Given the description of an element on the screen output the (x, y) to click on. 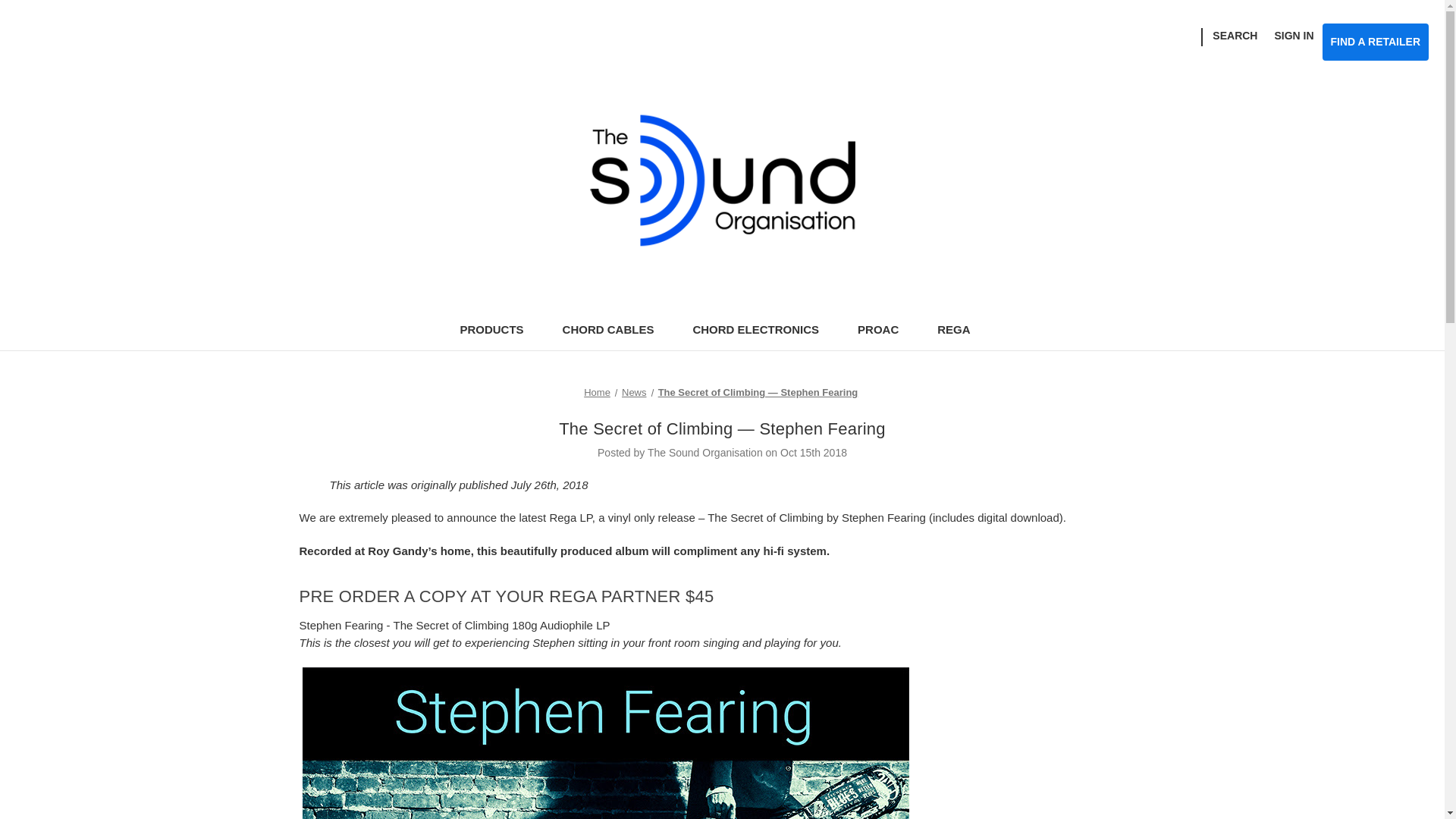
FIND A RETAILER (1375, 41)
THE SOUND ORGANISATION (722, 179)
SEARCH (1234, 35)
CHORD CABLES (615, 331)
SIGN IN (1293, 35)
PRODUCTS (498, 331)
